Given the description of an element on the screen output the (x, y) to click on. 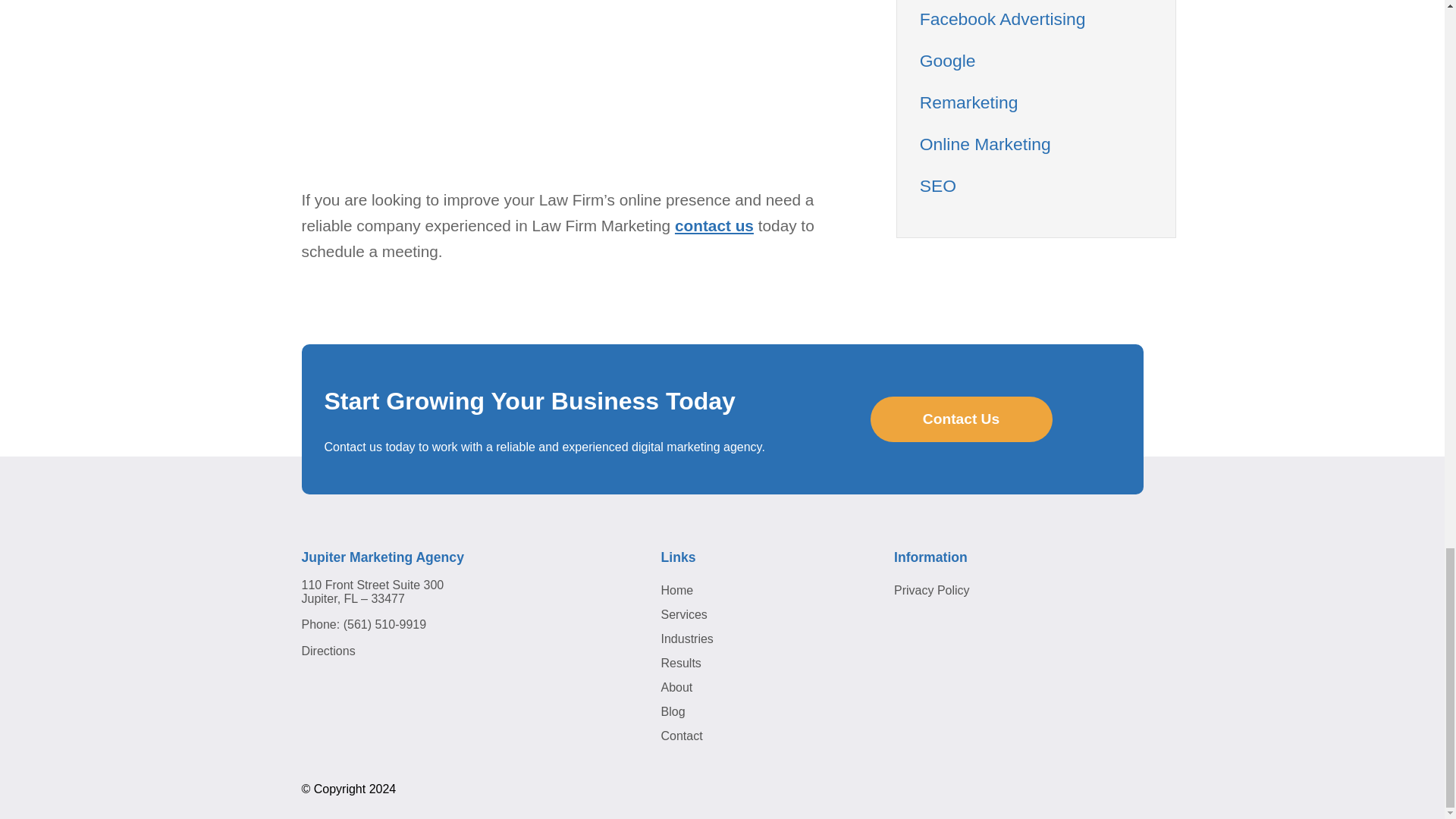
Contact Us (961, 419)
Directions (328, 650)
Results (681, 662)
Home (677, 590)
Remarketing (968, 102)
Services (684, 614)
Facebook Advertising (1003, 18)
SEO (938, 185)
Online Marketing (985, 143)
Google (947, 60)
